Given the description of an element on the screen output the (x, y) to click on. 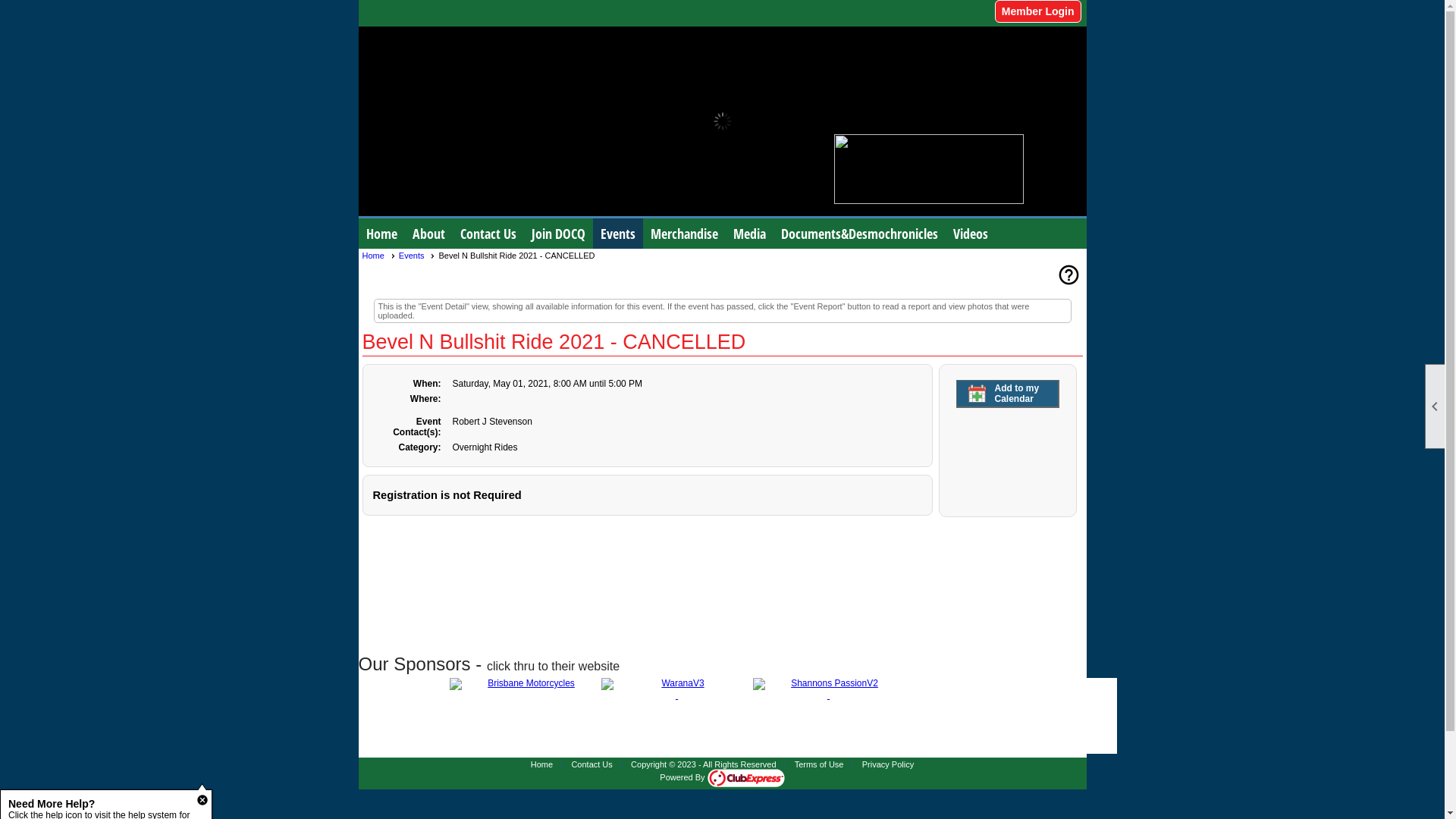
Powered By  Element type: text (721, 776)
Terms of Use Element type: text (819, 763)
Merchandise Element type: text (684, 233)
  Element type: text (900, 688)
  Element type: text (301, 688)
Home Element type: text (380, 233)
Contact Us Element type: text (487, 233)
Home Element type: text (541, 763)
Events Element type: text (416, 255)
help_outline Element type: text (1068, 277)
Add to my Calendar Element type: text (1006, 393)
Documents&Desmochronicles Element type: text (859, 233)
Join DOCQ Element type: text (557, 233)
Events Element type: text (618, 233)
Contact Us Element type: text (591, 763)
  Element type: text (749, 688)
Privacy Policy Element type: text (887, 763)
Home Element type: text (378, 255)
Member Login Element type: text (1037, 11)
